Given the description of an element on the screen output the (x, y) to click on. 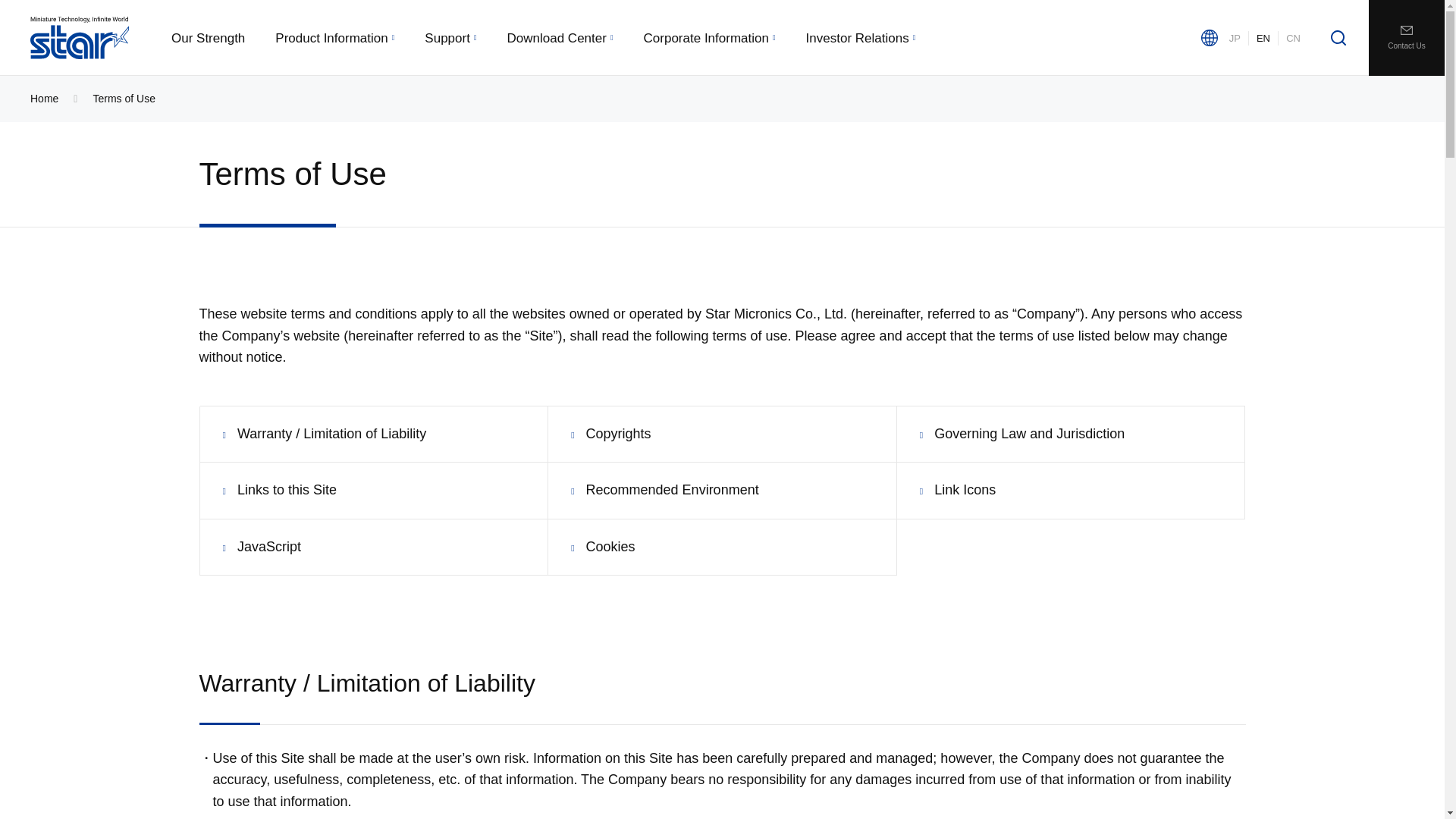
Our Strength (207, 38)
Cookies (602, 546)
Product Information (334, 38)
Governing Law and Jurisdiction (1022, 434)
Recommended Environment (664, 489)
Support (450, 38)
Link Icons (957, 489)
Corporate Information (709, 38)
Investor Relations (860, 38)
Copyrights (610, 434)
Go to STAR MICRONICS CO.,LTD. (44, 98)
JavaScript (261, 546)
Download Center (560, 38)
Links to this Site (279, 489)
